Given the description of an element on the screen output the (x, y) to click on. 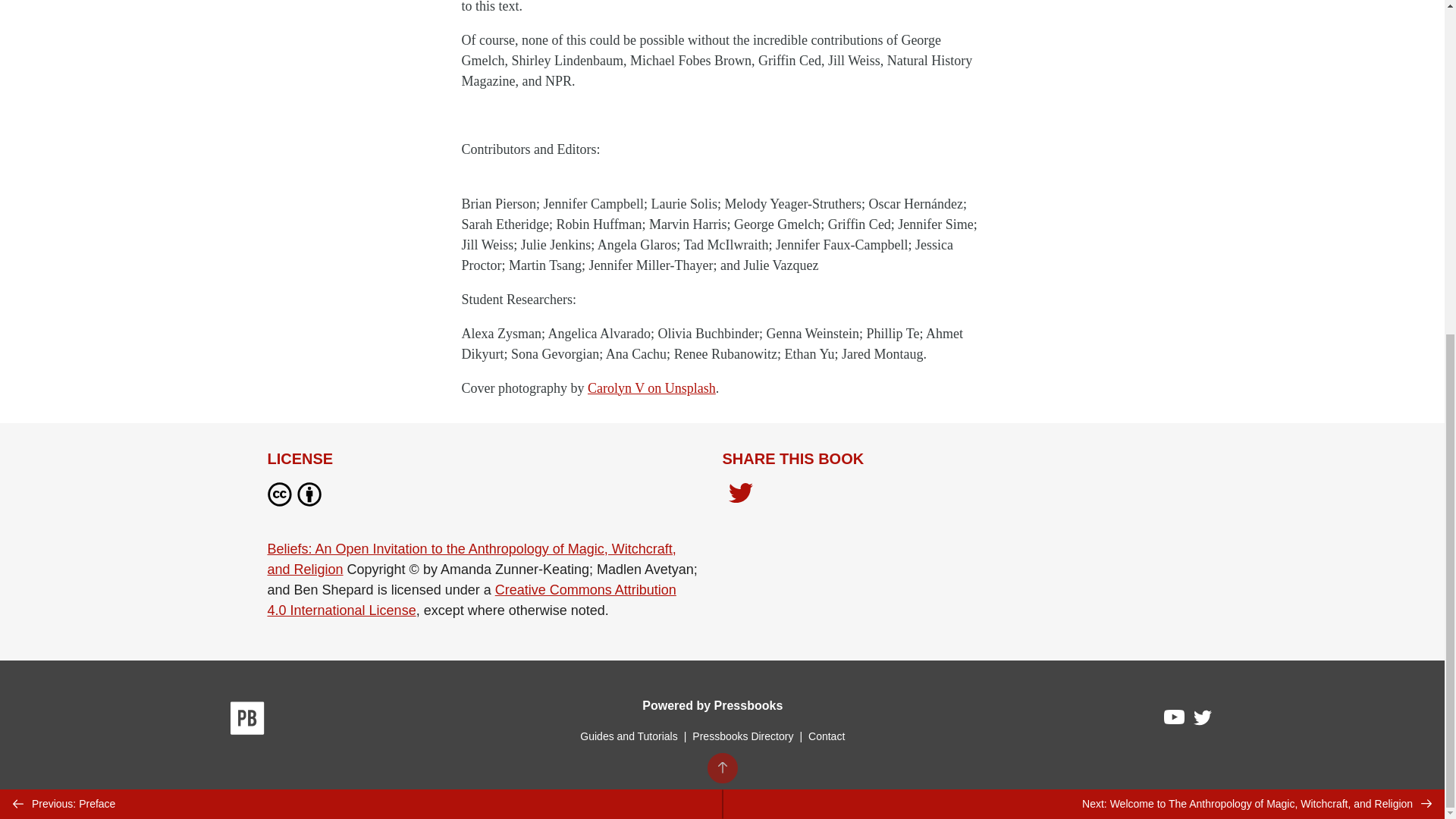
Guides and Tutorials (627, 736)
Creative Commons Attribution 4.0 International License (470, 600)
Powered by Pressbooks (712, 705)
Previous: Preface (361, 244)
Previous: Preface (361, 244)
Share on Twitter (740, 496)
Pressbooks on YouTube (1174, 721)
Pressbooks Directory (742, 736)
BACK TO TOP (721, 208)
